Given the description of an element on the screen output the (x, y) to click on. 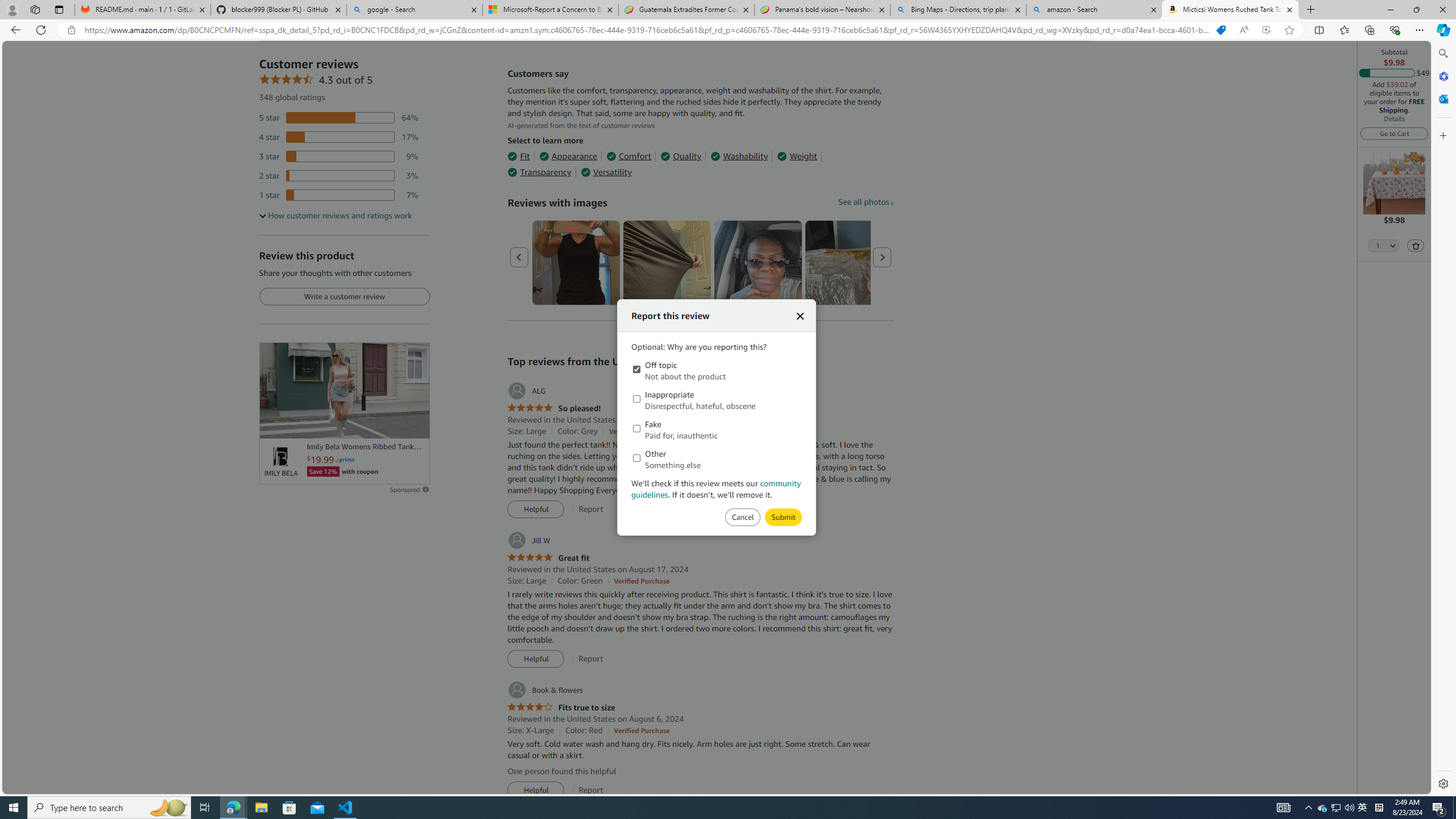
5.0 out of 5 stars So pleased! (553, 408)
Logo (280, 461)
64 percent of reviews have 5 stars (339, 117)
Report (590, 790)
